Given the description of an element on the screen output the (x, y) to click on. 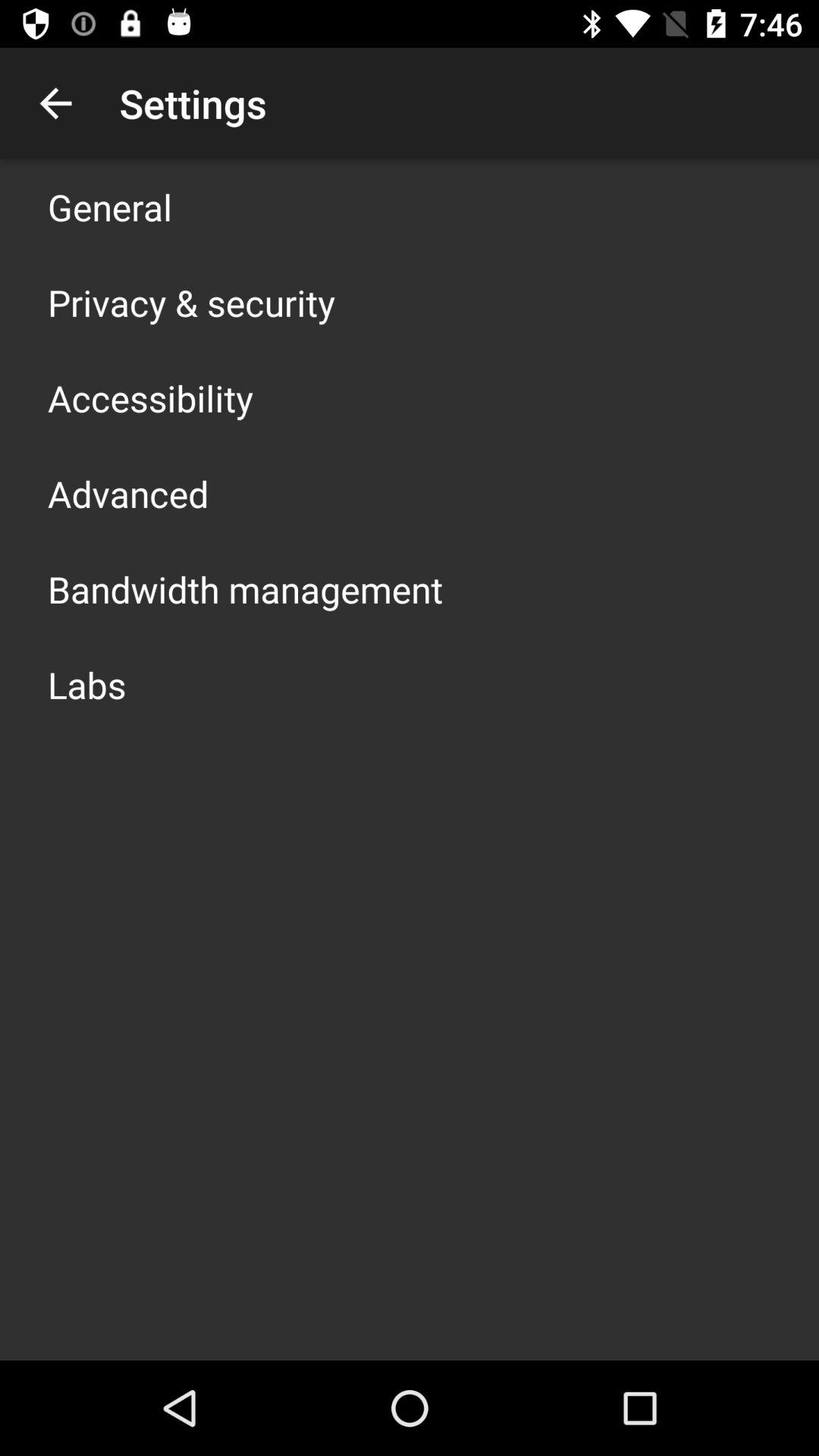
launch the labs app (86, 684)
